Given the description of an element on the screen output the (x, y) to click on. 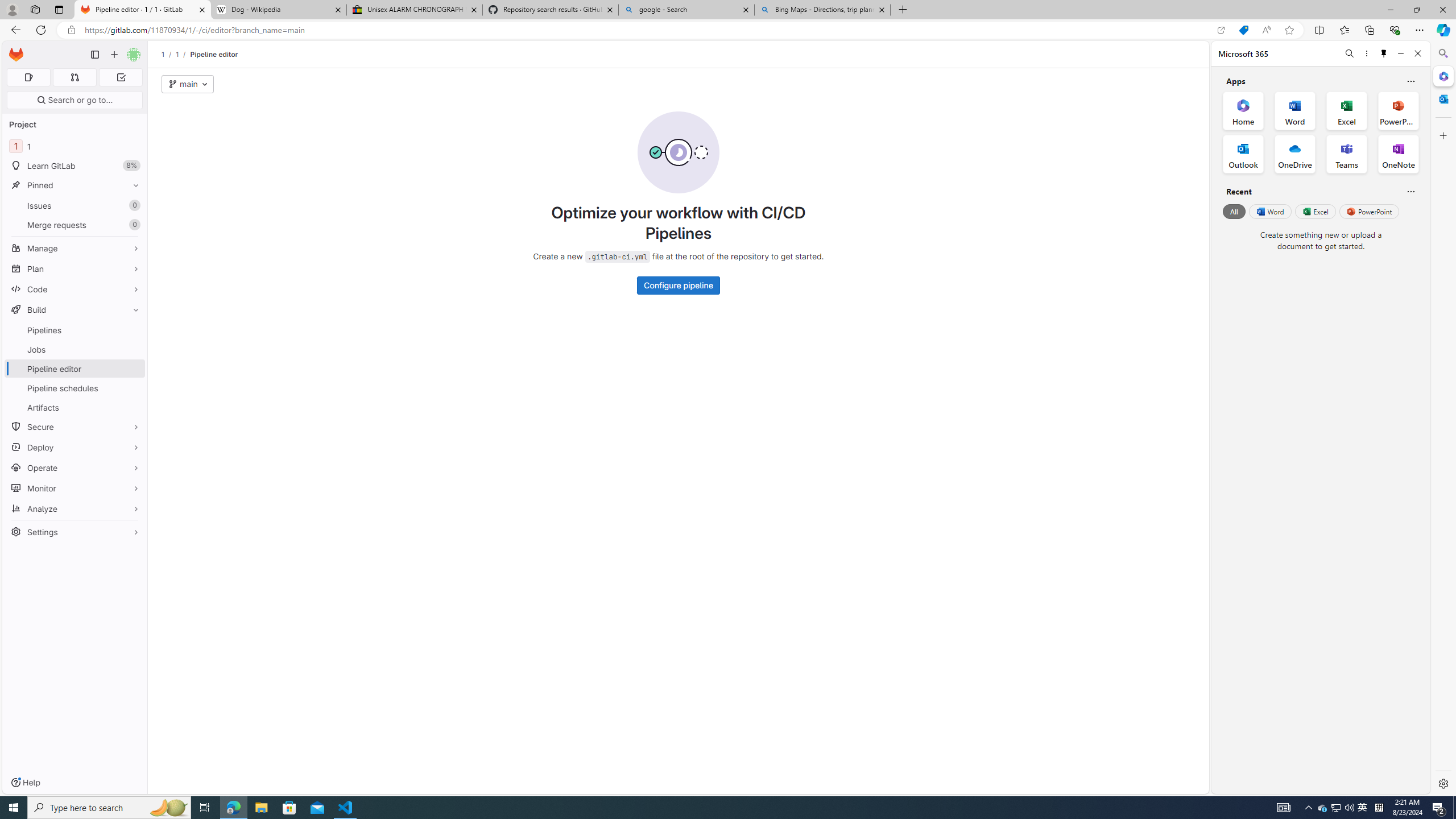
Artifacts (74, 407)
Jobs (74, 348)
Pin Artifacts (132, 407)
Operate (74, 467)
1 1 (74, 145)
Pin Pipeline schedules (132, 387)
1/ (183, 53)
OneNote Office App (1398, 154)
Merge requests 0 (74, 76)
Pin Pipeline editor (132, 368)
